Given the description of an element on the screen output the (x, y) to click on. 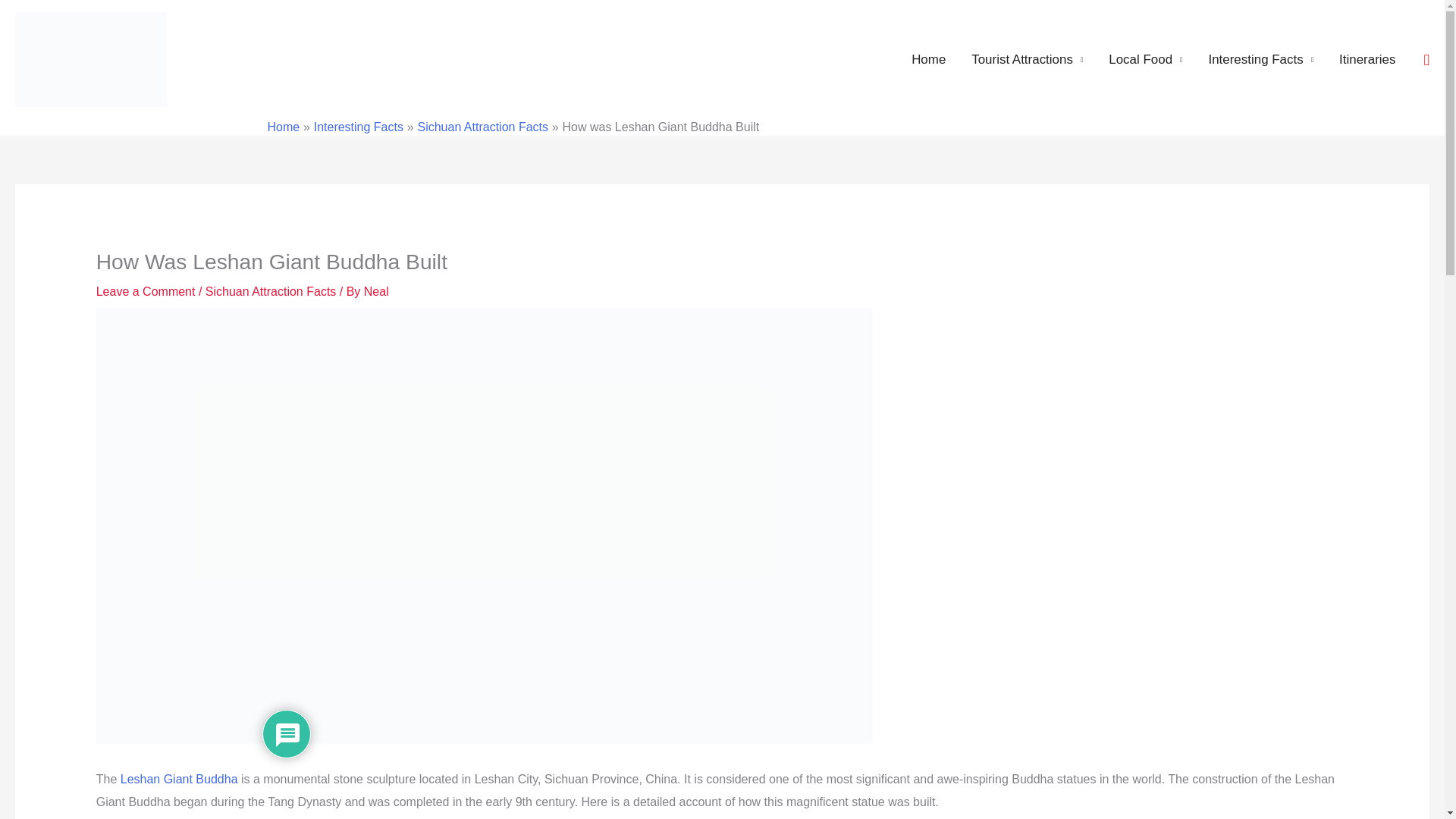
View all posts by Neal (376, 291)
Tourist Attractions (1027, 59)
Home (928, 59)
